Given the description of an element on the screen output the (x, y) to click on. 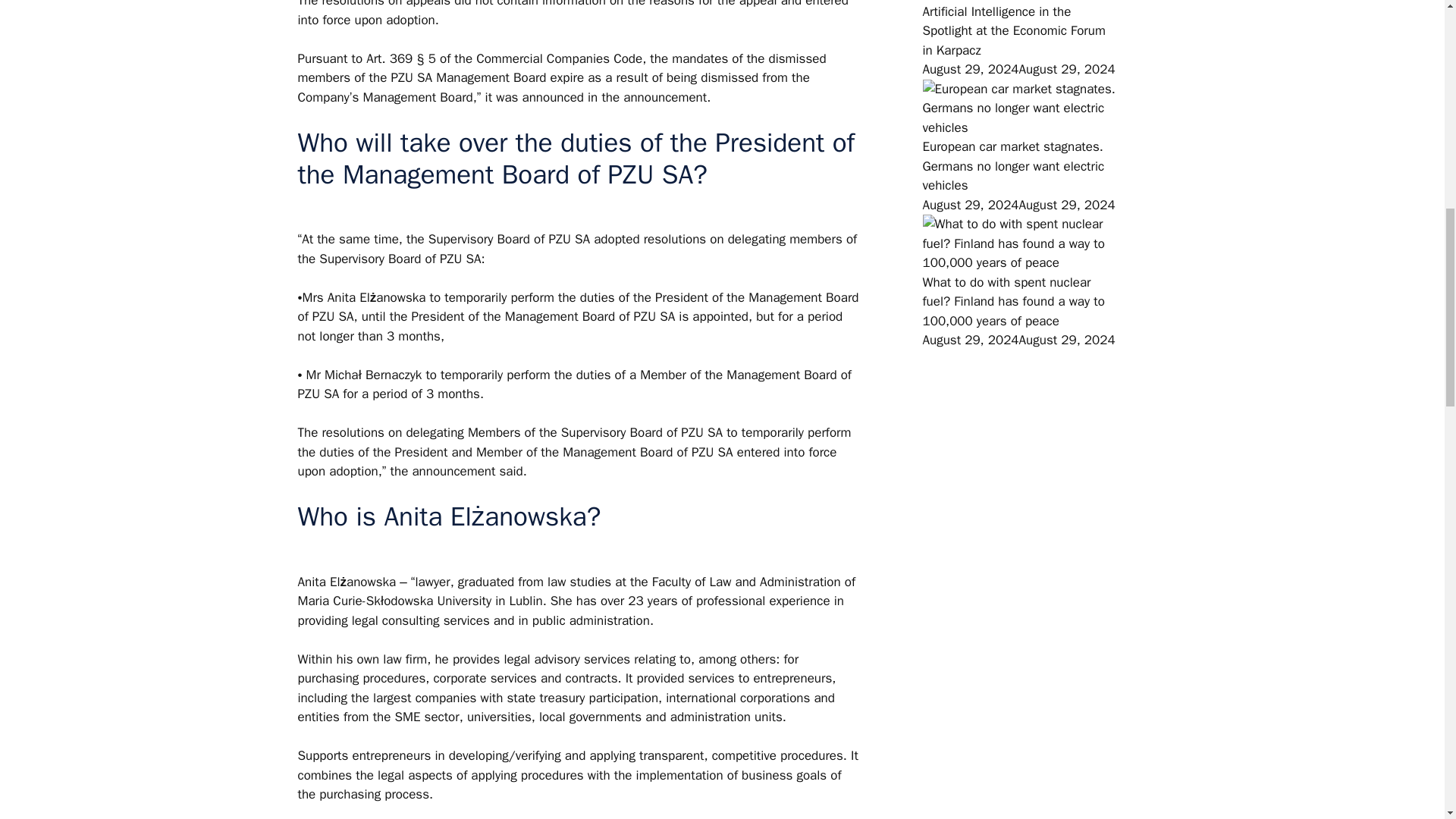
8:43 am (1018, 340)
August 29, 2024August 29, 2024 (1018, 340)
11:38 am (1018, 204)
August 29, 2024August 29, 2024 (1018, 68)
August 29, 2024August 29, 2024 (1018, 204)
